Given the description of an element on the screen output the (x, y) to click on. 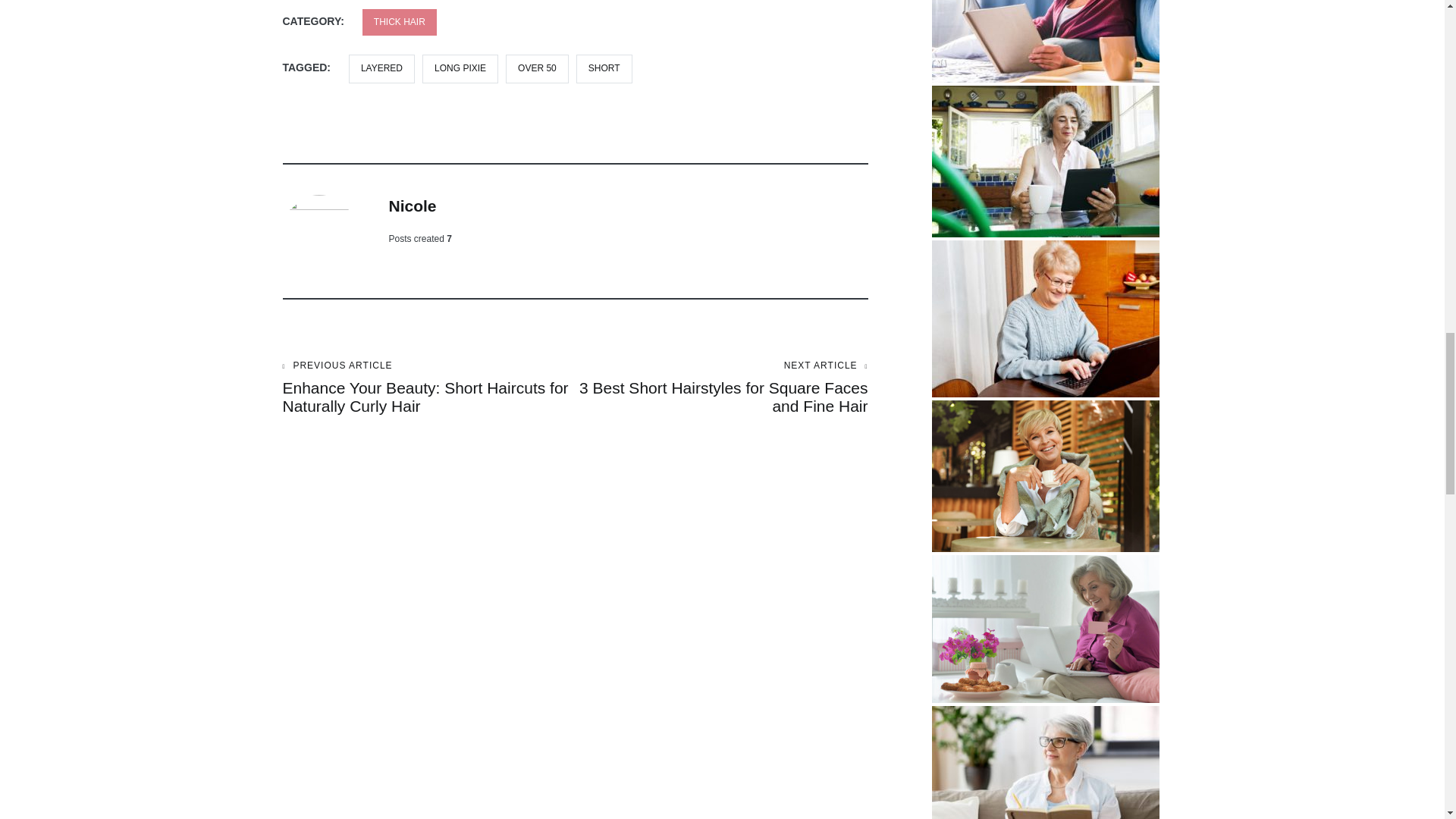
OVER 50 (537, 68)
SHORT (603, 68)
LONG PIXIE (459, 68)
Posts by Nicole (411, 205)
LAYERED (381, 68)
THICK HAIR (399, 22)
Nicole (411, 205)
